Given the description of an element on the screen output the (x, y) to click on. 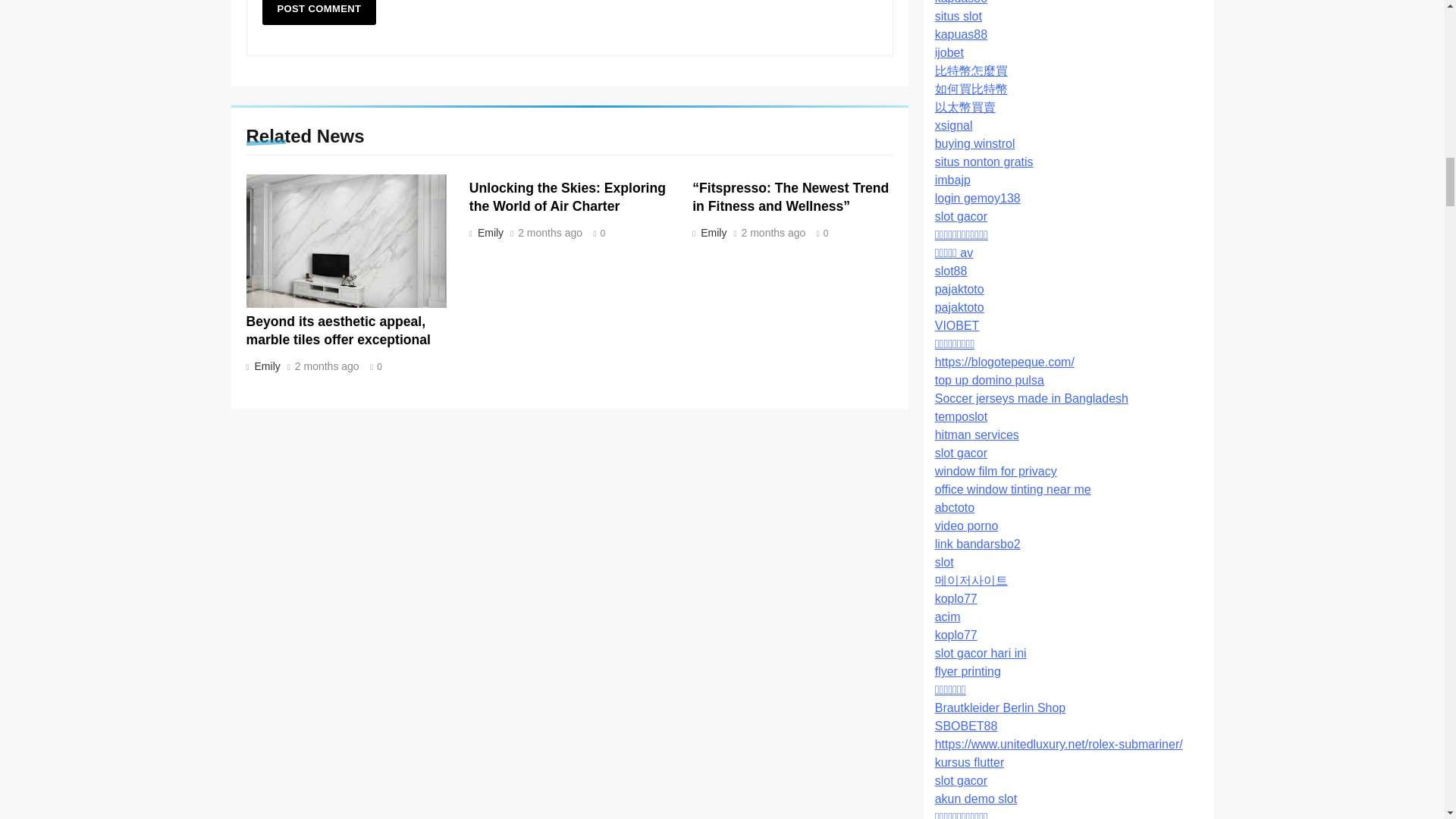
Post Comment (319, 12)
Emily (712, 232)
Beyond its aesthetic appeal, marble tiles offer exceptional (337, 330)
Unlocking the Skies: Exploring the World of Air Charter (566, 196)
Emily (265, 366)
Emily (488, 232)
2 months ago (773, 233)
Post Comment (319, 12)
2 months ago (550, 233)
2 months ago (327, 366)
